Given the description of an element on the screen output the (x, y) to click on. 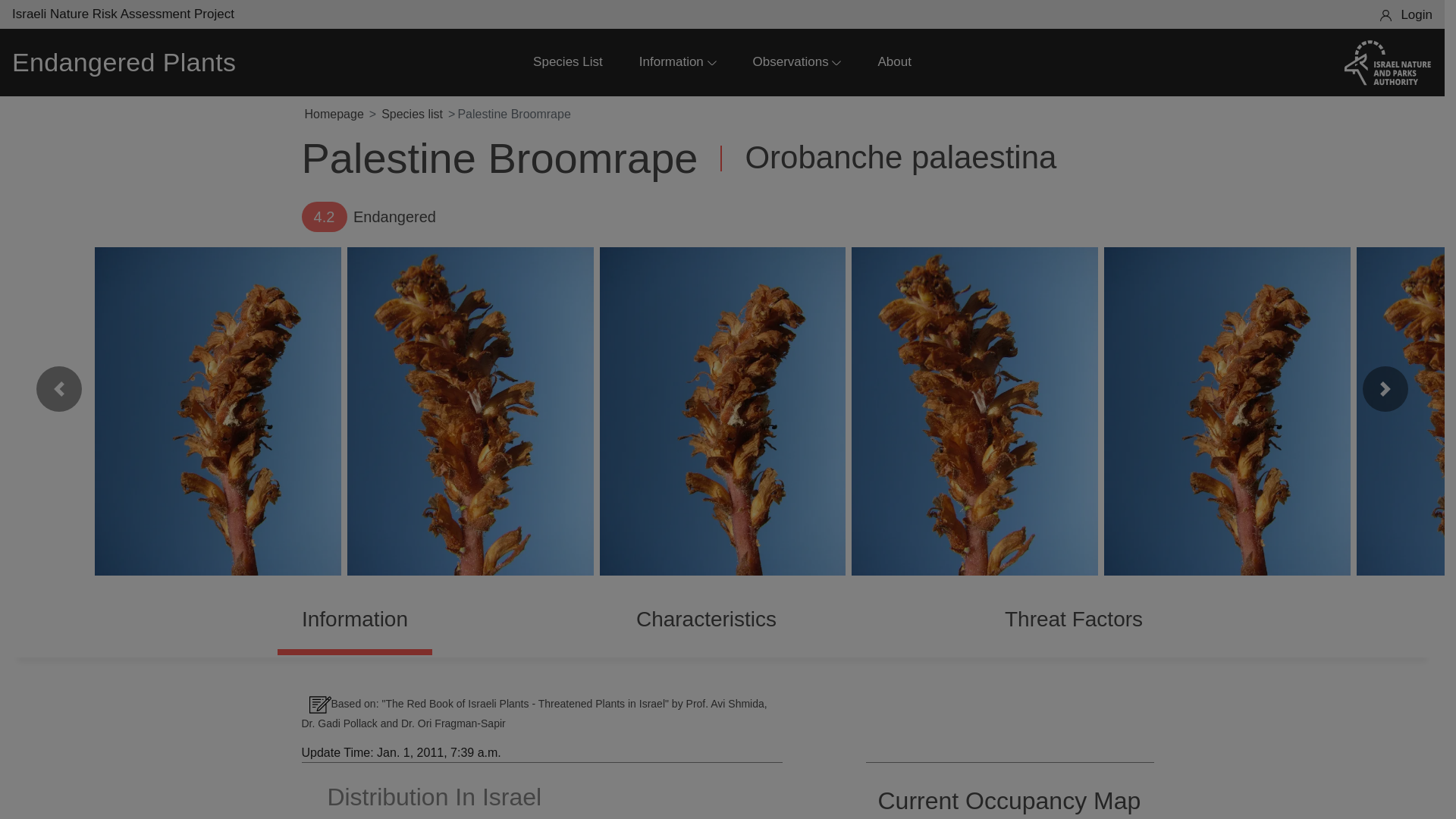
Homepage (333, 113)
Israeli Nature Risk Assessment Project (122, 13)
Observations (796, 62)
Information (677, 62)
Characteristics (705, 619)
Species List (567, 62)
Distribution In Israel (426, 796)
Threat Factors (1074, 619)
Species list (411, 113)
About (894, 62)
